Given the description of an element on the screen output the (x, y) to click on. 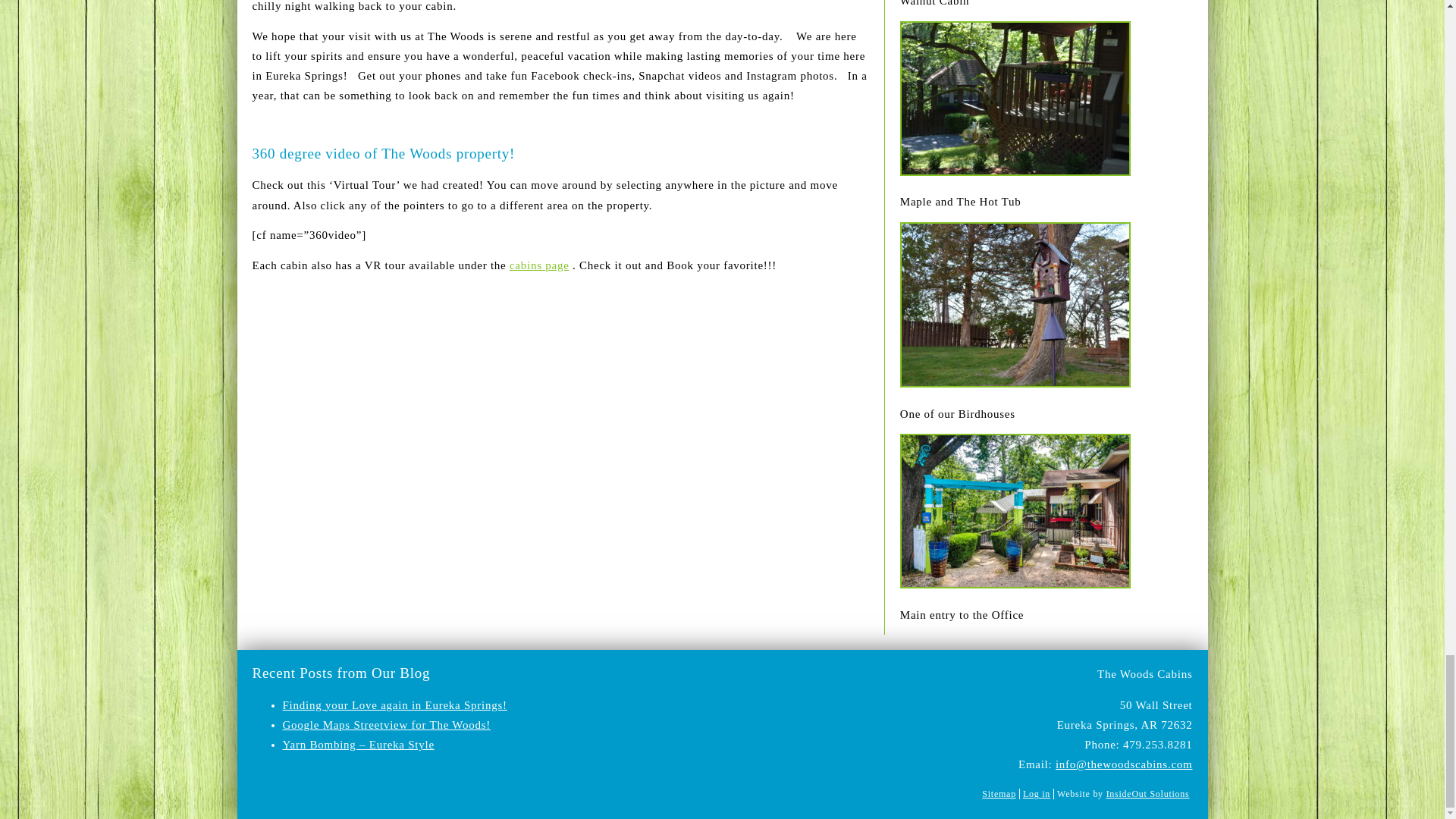
Google Maps Streetview for The Woods! (386, 725)
Log in (1036, 793)
InsideOut Solutions (1147, 793)
cabins page (539, 265)
Sitemap (998, 793)
Finding your Love again in Eureka Springs! (394, 705)
